Given the description of an element on the screen output the (x, y) to click on. 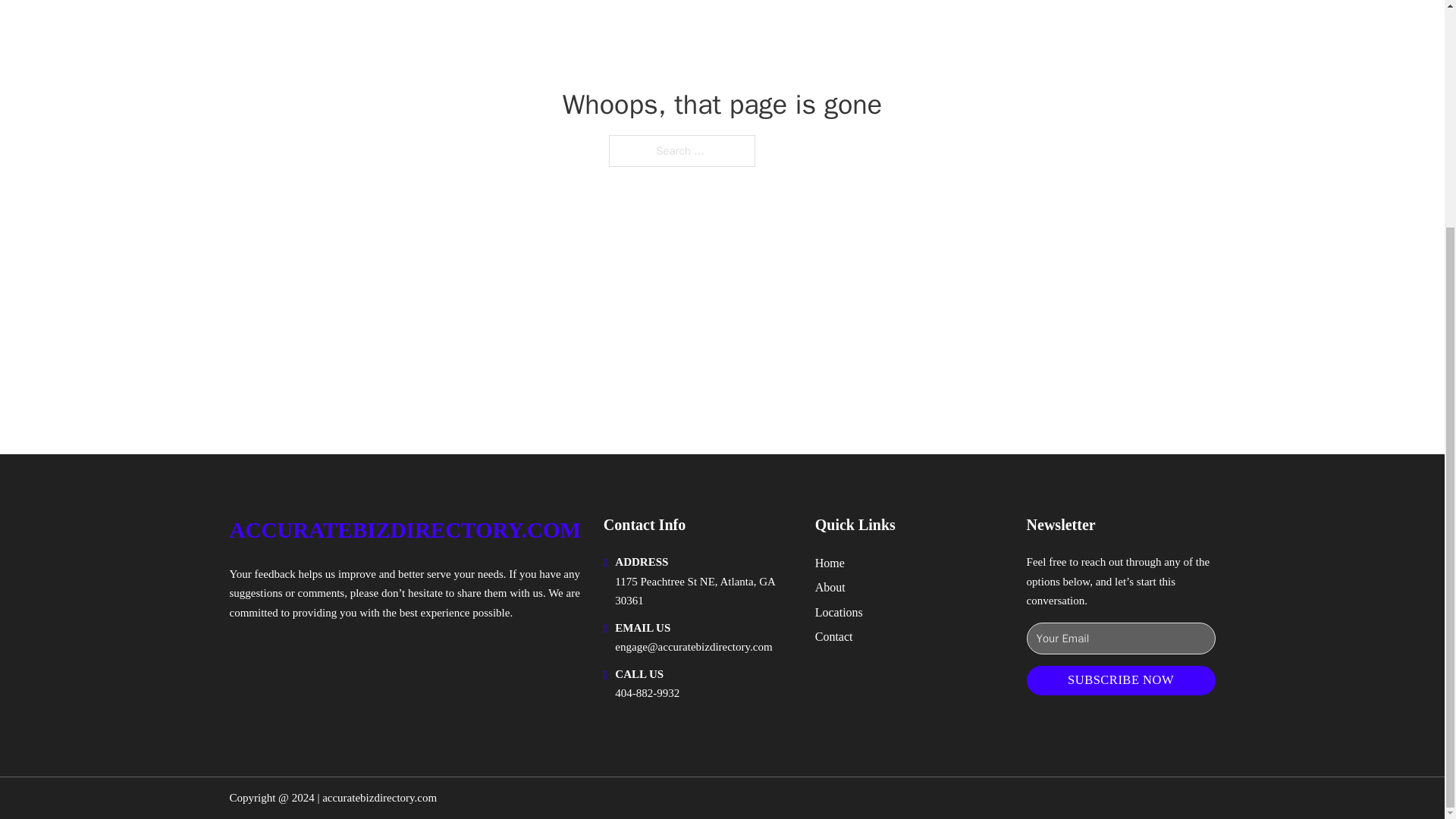
404-882-9932 (646, 693)
About (830, 587)
Contact (834, 636)
ACCURATEBIZDIRECTORY.COM (403, 529)
Locations (839, 611)
SUBSCRIBE NOW (1120, 680)
Home (829, 562)
